Given the description of an element on the screen output the (x, y) to click on. 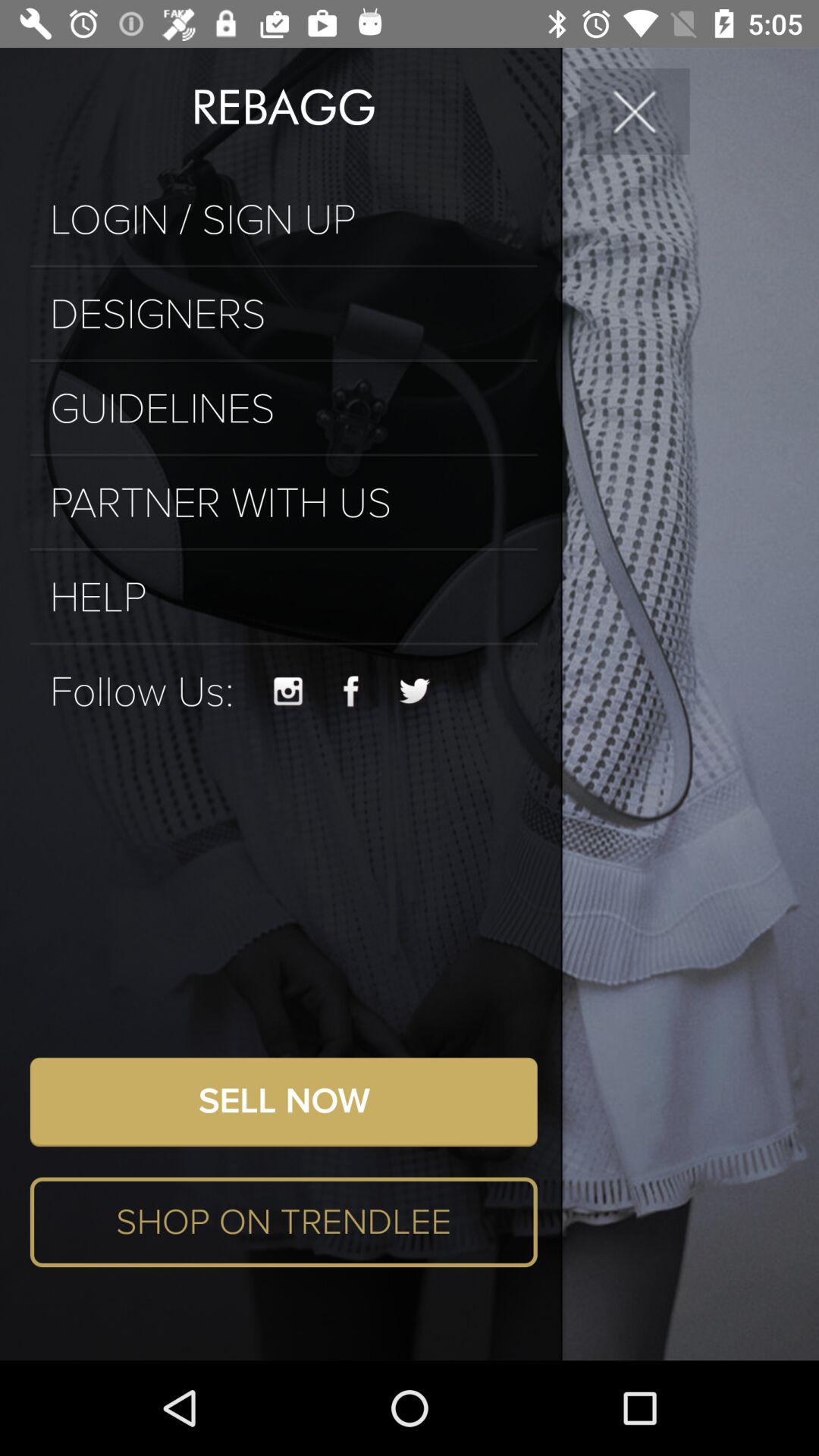
press item above the sell now icon (351, 691)
